Given the description of an element on the screen output the (x, y) to click on. 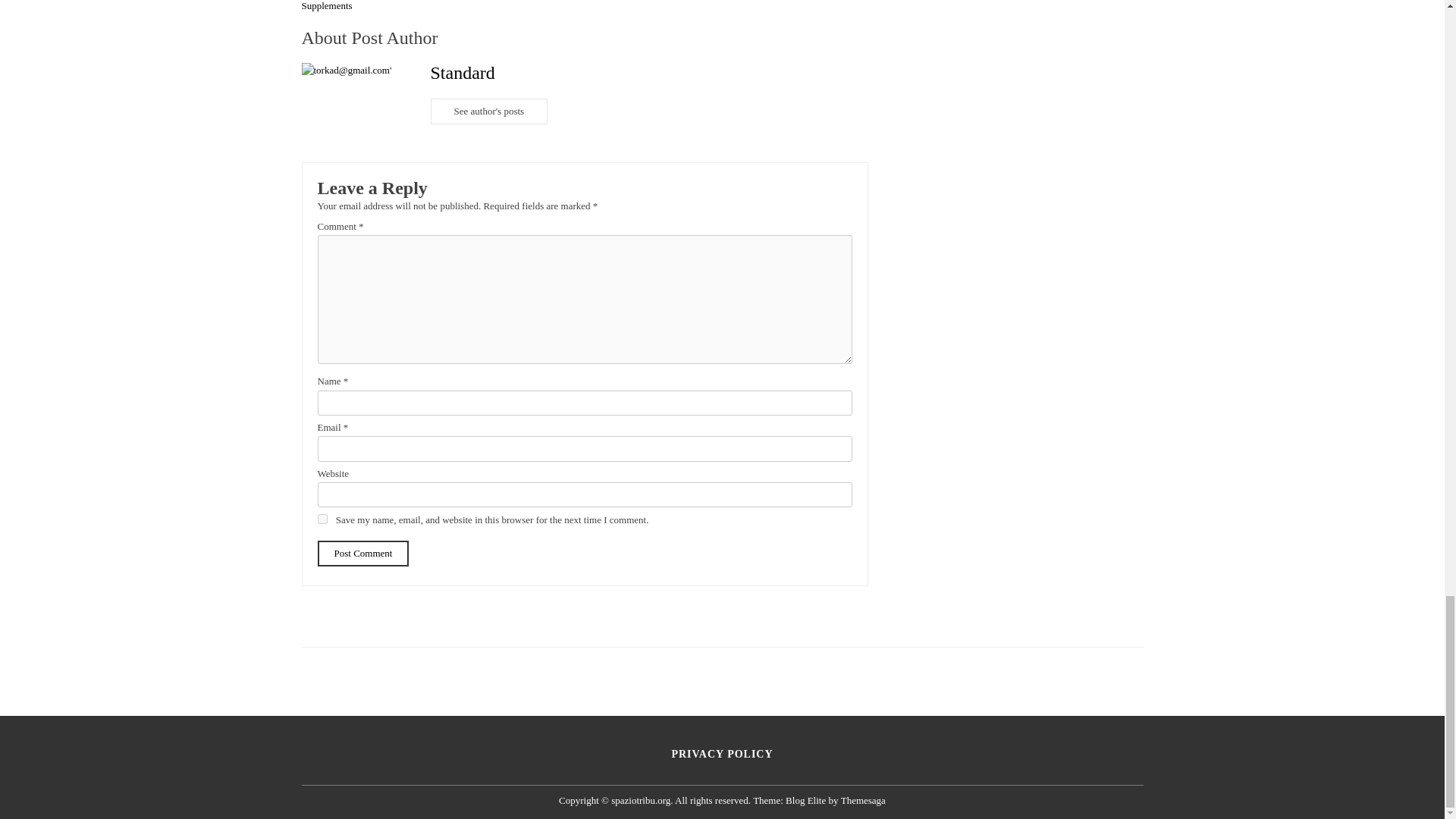
yes (321, 519)
Post Comment (363, 553)
Post Comment (363, 553)
See author's posts (489, 111)
Standard (462, 72)
